Given the description of an element on the screen output the (x, y) to click on. 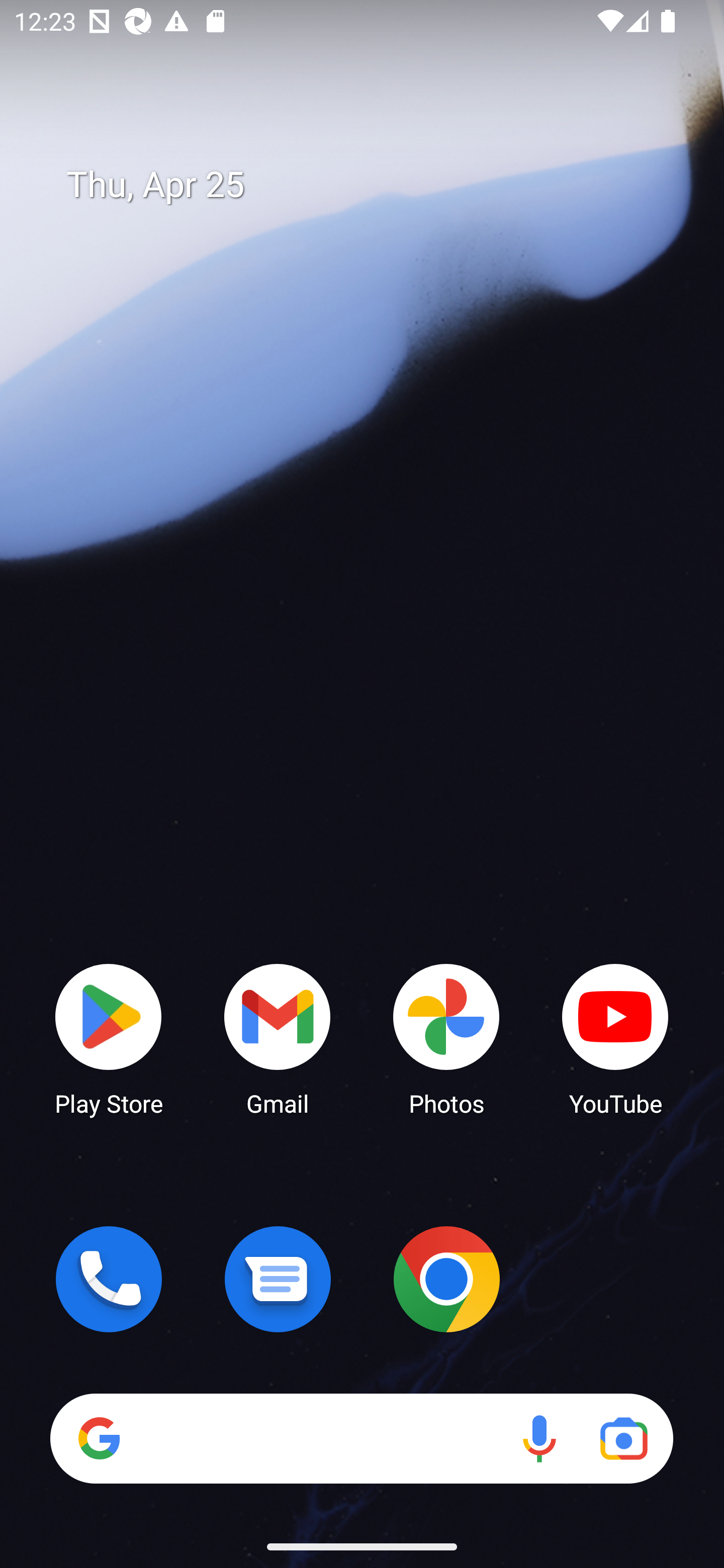
Thu, Apr 25 (375, 184)
Play Store (108, 1038)
Gmail (277, 1038)
Photos (445, 1038)
YouTube (615, 1038)
Phone (108, 1279)
Messages (277, 1279)
Chrome (446, 1279)
Search Voice search Google Lens (361, 1438)
Voice search (539, 1438)
Google Lens (623, 1438)
